Given the description of an element on the screen output the (x, y) to click on. 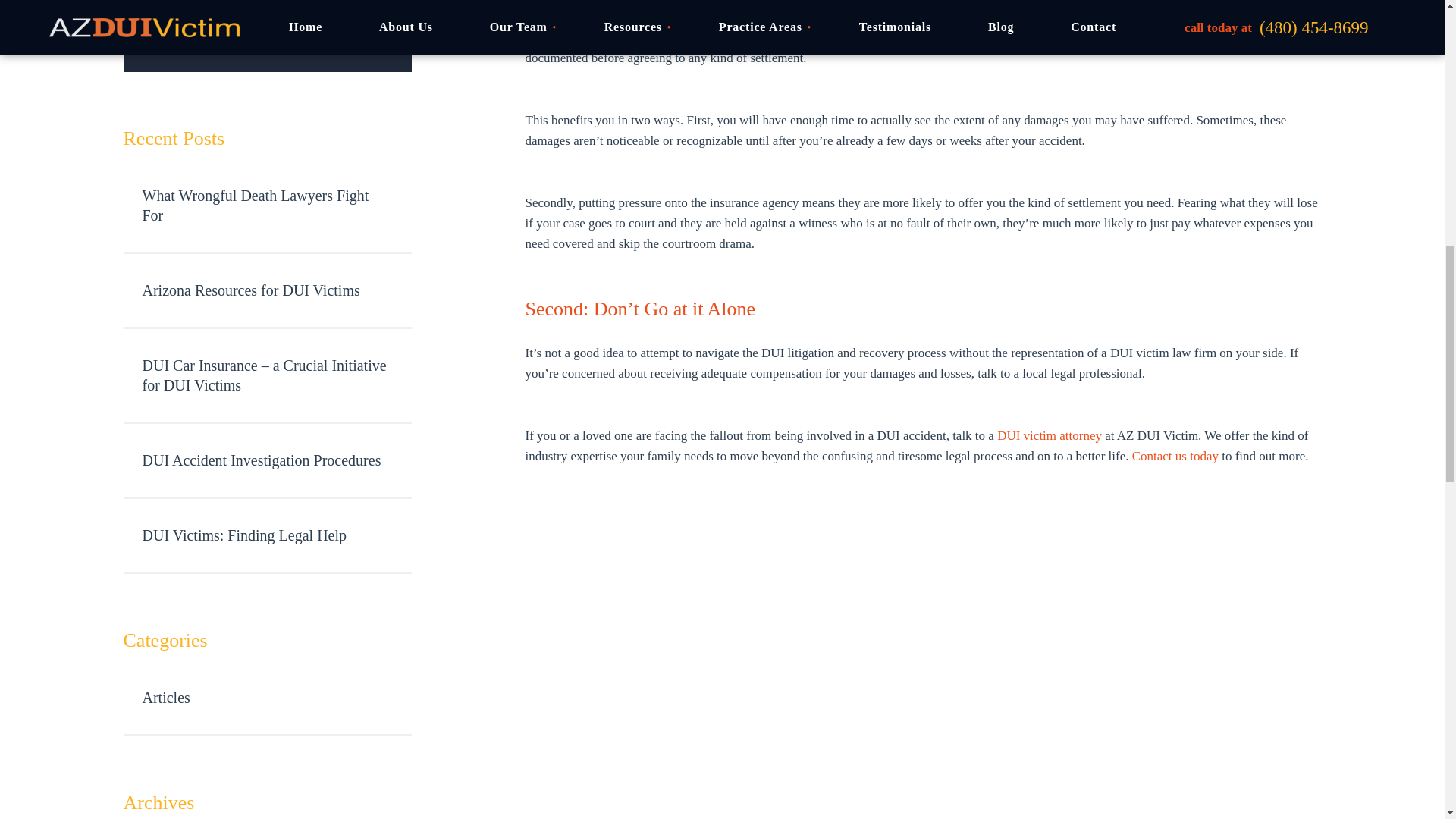
Submit (266, 7)
DUI victim attorney (1049, 435)
Articles (266, 698)
Contact us today (1175, 455)
DUI victim attorney (1049, 435)
DUI Accident Investigation Procedures (266, 461)
Submit (266, 7)
DUI Victims: Finding Legal Help (266, 536)
Arizona Resources for DUI Victims (266, 291)
What Wrongful Death Lawyers Fight For (266, 205)
